Given the description of an element on the screen output the (x, y) to click on. 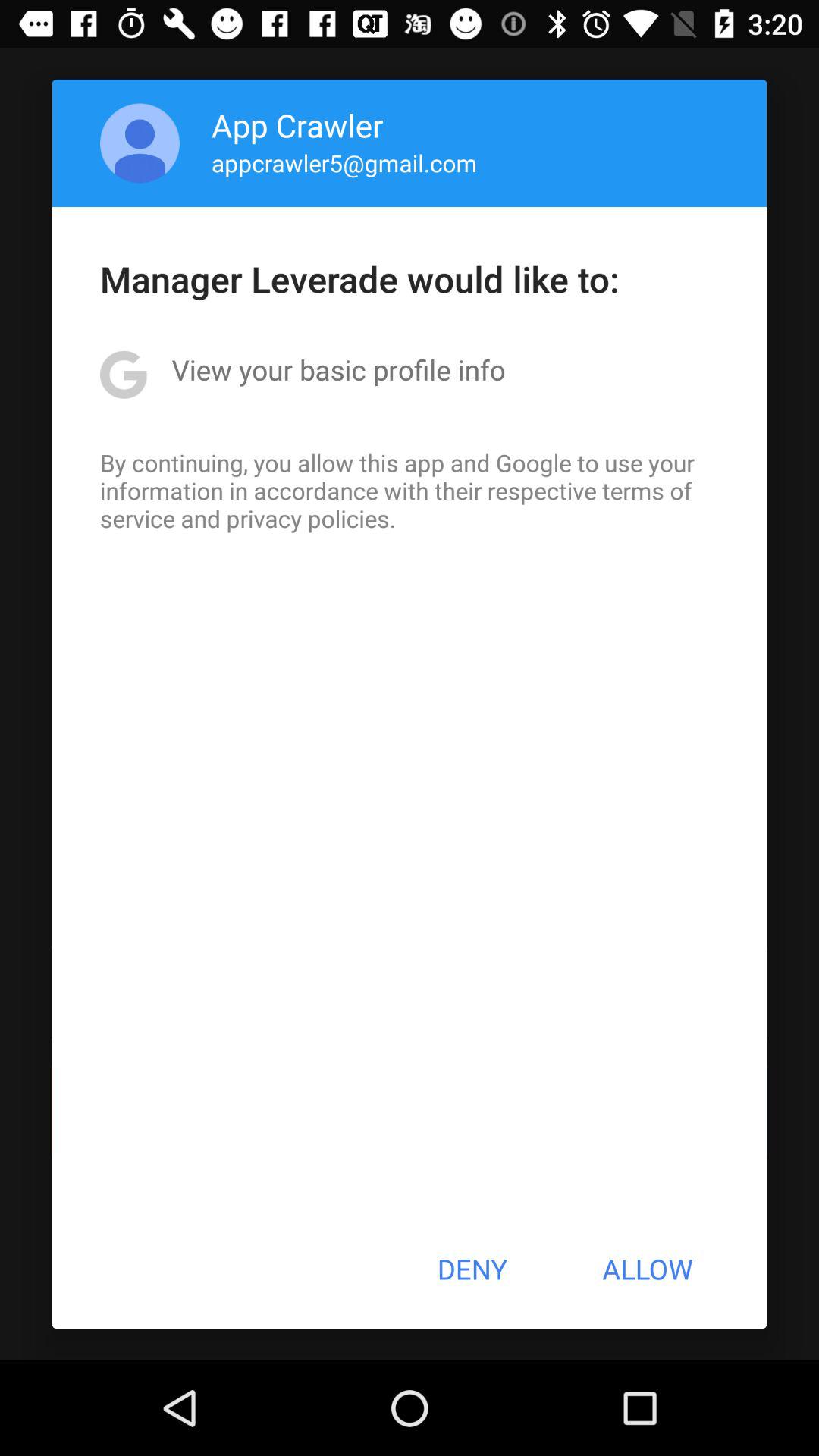
turn on button to the left of allow button (471, 1268)
